Given the description of an element on the screen output the (x, y) to click on. 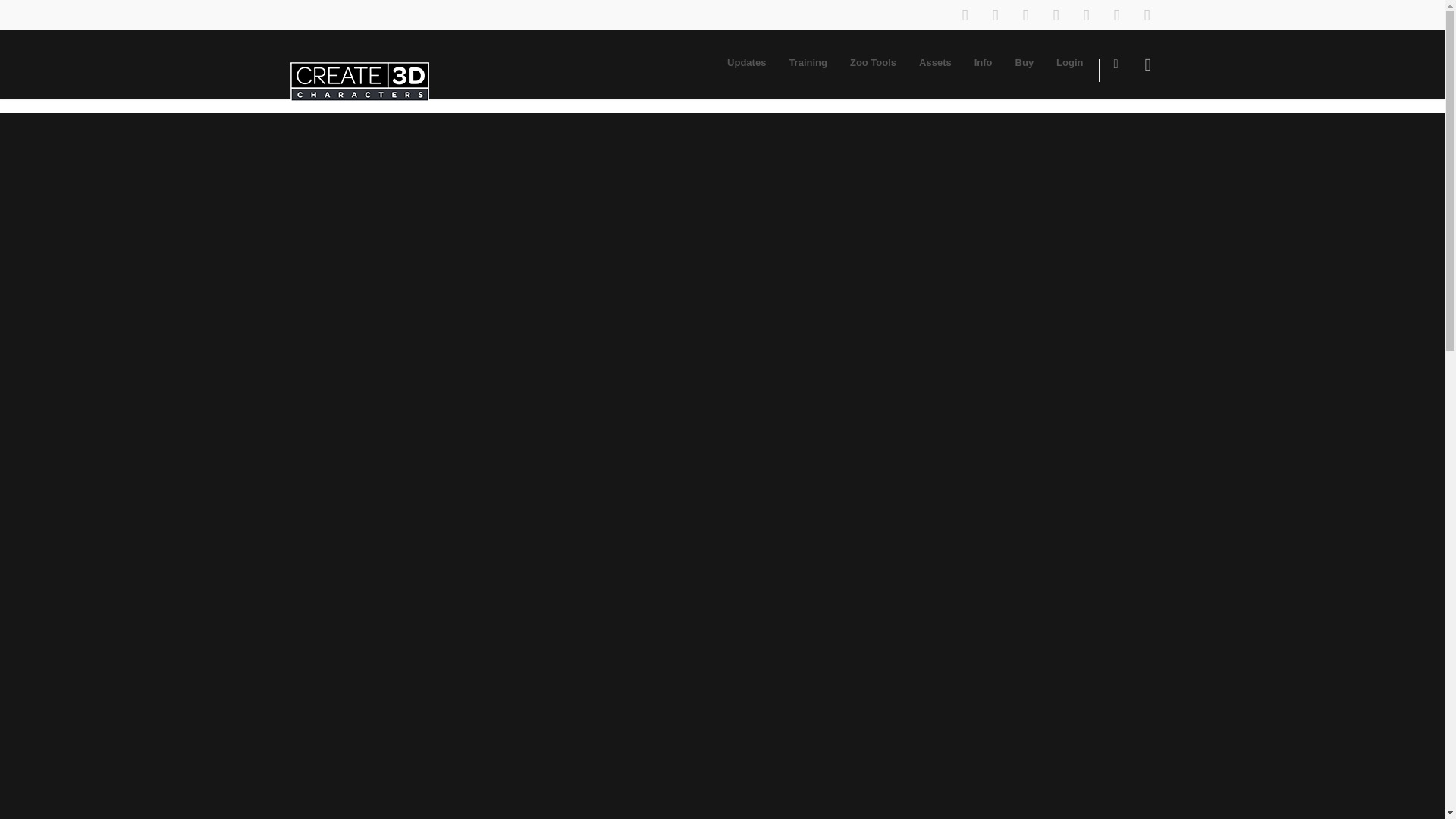
Pinterest (1025, 15)
Assets (934, 62)
Info (983, 62)
Instagram (994, 15)
Zoo Tools (872, 62)
Facebook (964, 15)
Training (807, 62)
Discord (1146, 15)
YouTube (1115, 15)
Buy (1024, 62)
